Given the description of an element on the screen output the (x, y) to click on. 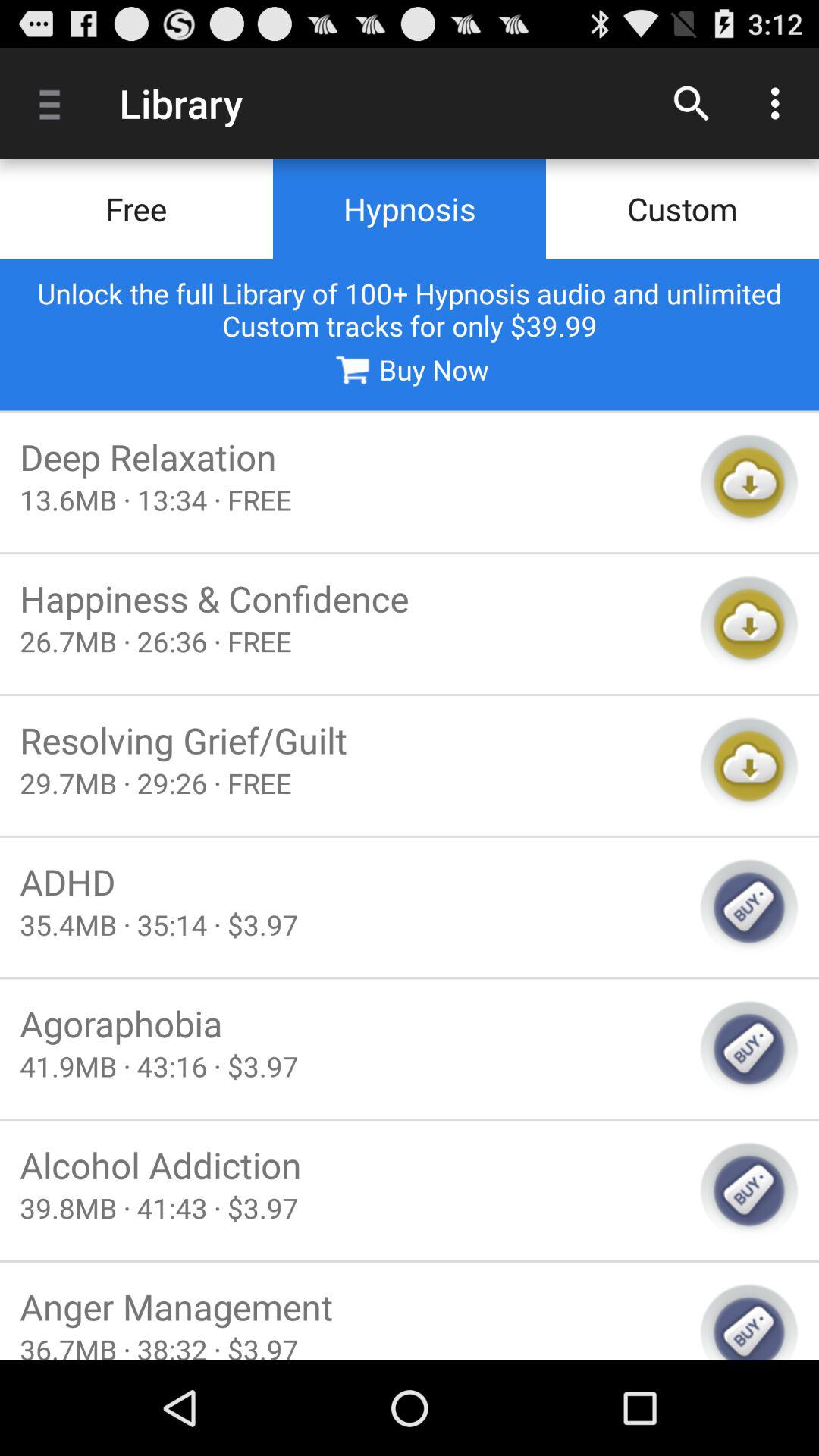
buy item (749, 1321)
